Given the description of an element on the screen output the (x, y) to click on. 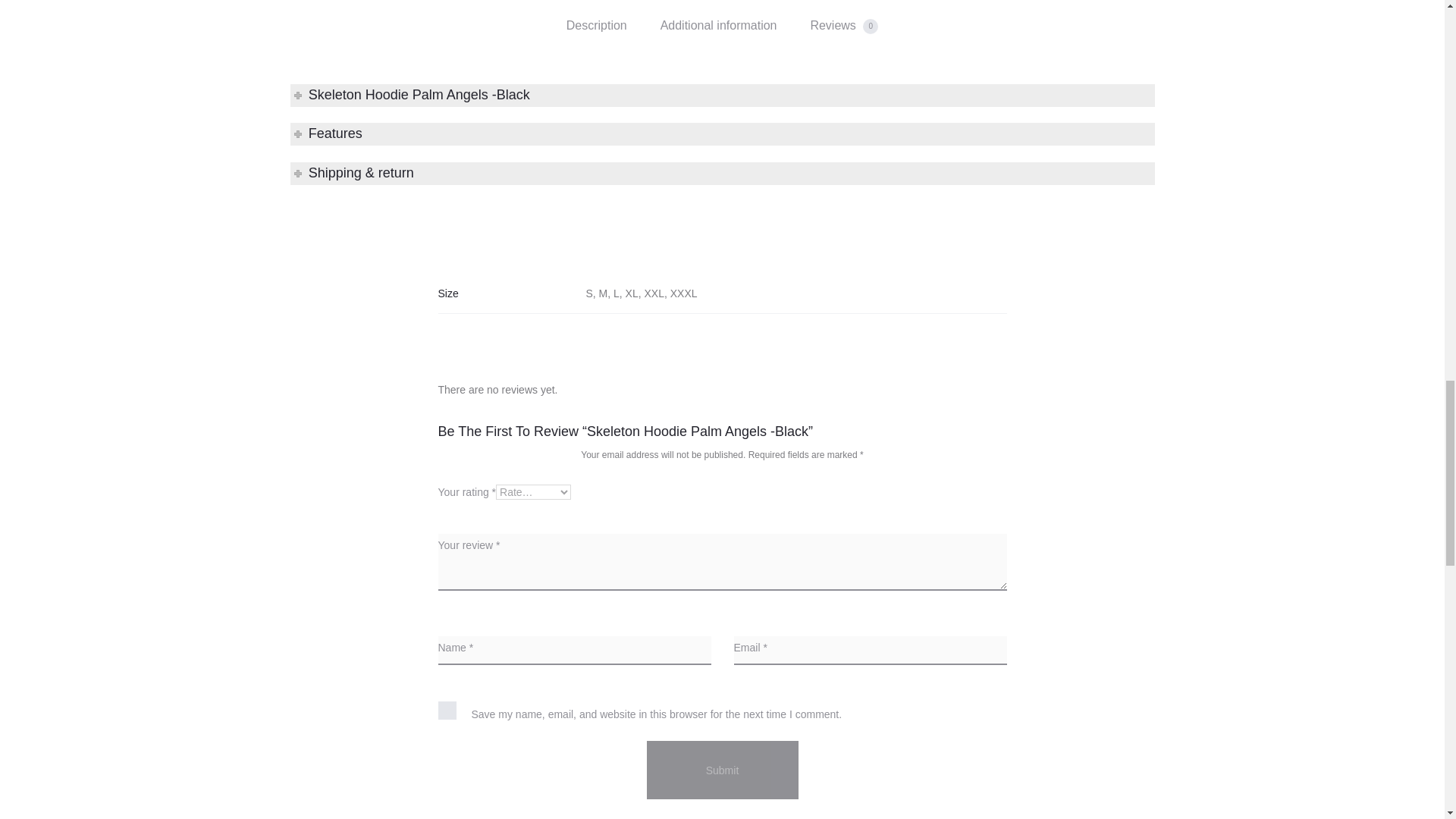
Submit (721, 770)
Additional information (719, 25)
Description (596, 25)
